Given the description of an element on the screen output the (x, y) to click on. 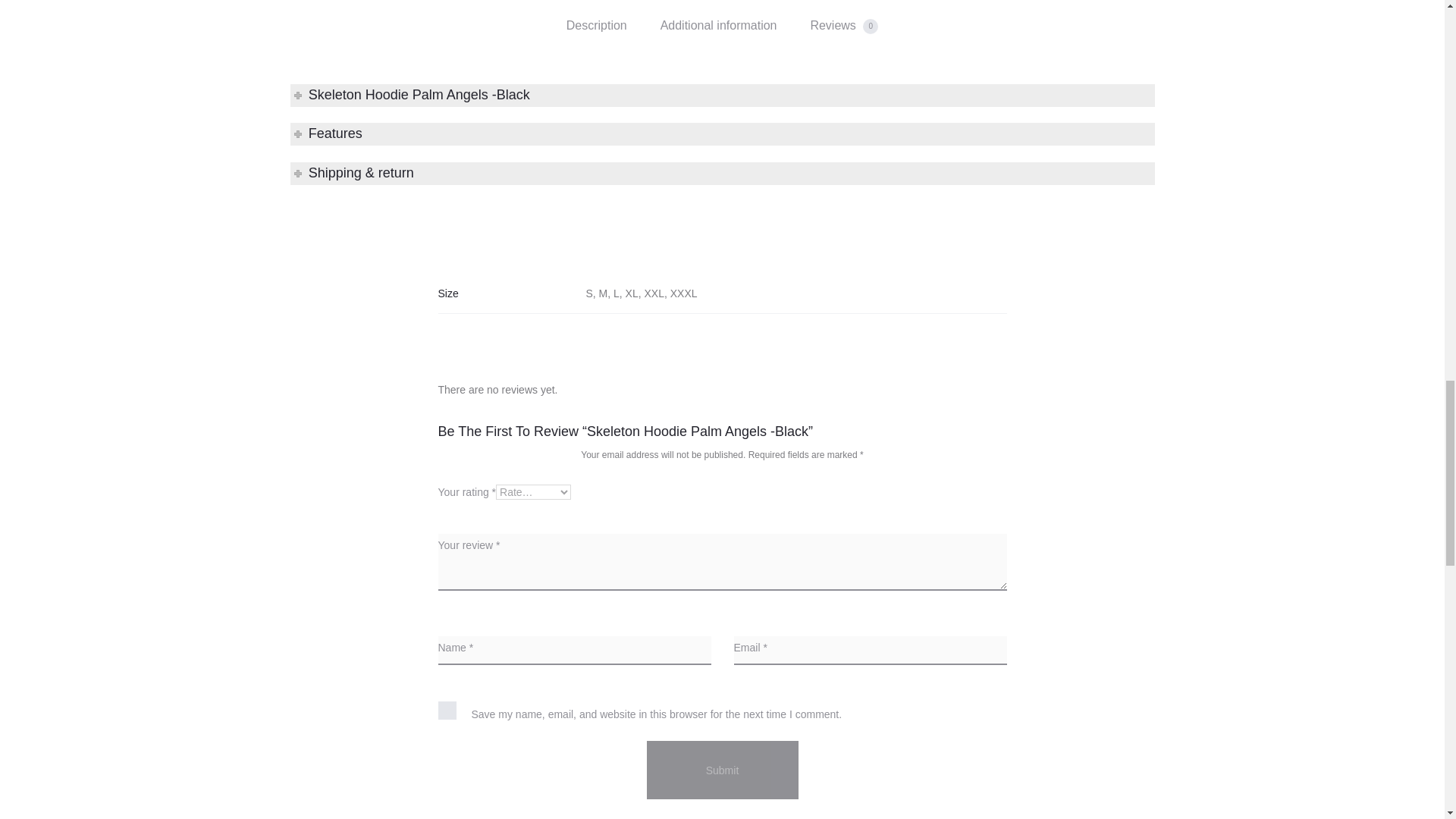
Submit (721, 770)
Additional information (719, 25)
Description (596, 25)
